Given the description of an element on the screen output the (x, y) to click on. 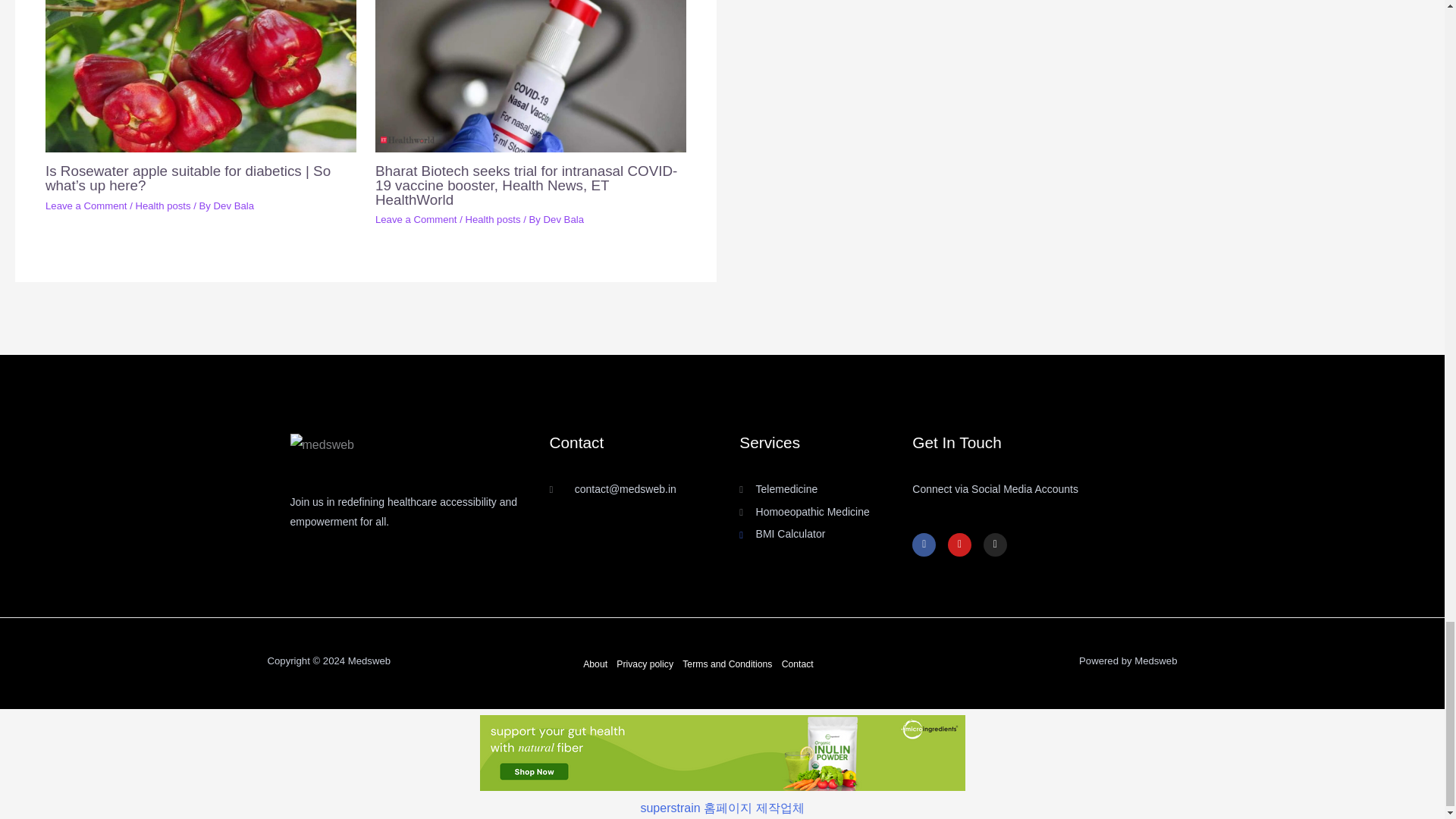
Youtube (959, 544)
Leave a Comment (86, 205)
Dev Bala (563, 219)
Instagram (995, 544)
Facebook-f (924, 544)
View all posts by Dev Bala (563, 219)
Health posts (491, 219)
Health posts (162, 205)
BMI Calculator (825, 534)
View all posts by Dev Bala (233, 205)
Leave a Comment (416, 219)
Dev Bala (233, 205)
